Given the description of an element on the screen output the (x, y) to click on. 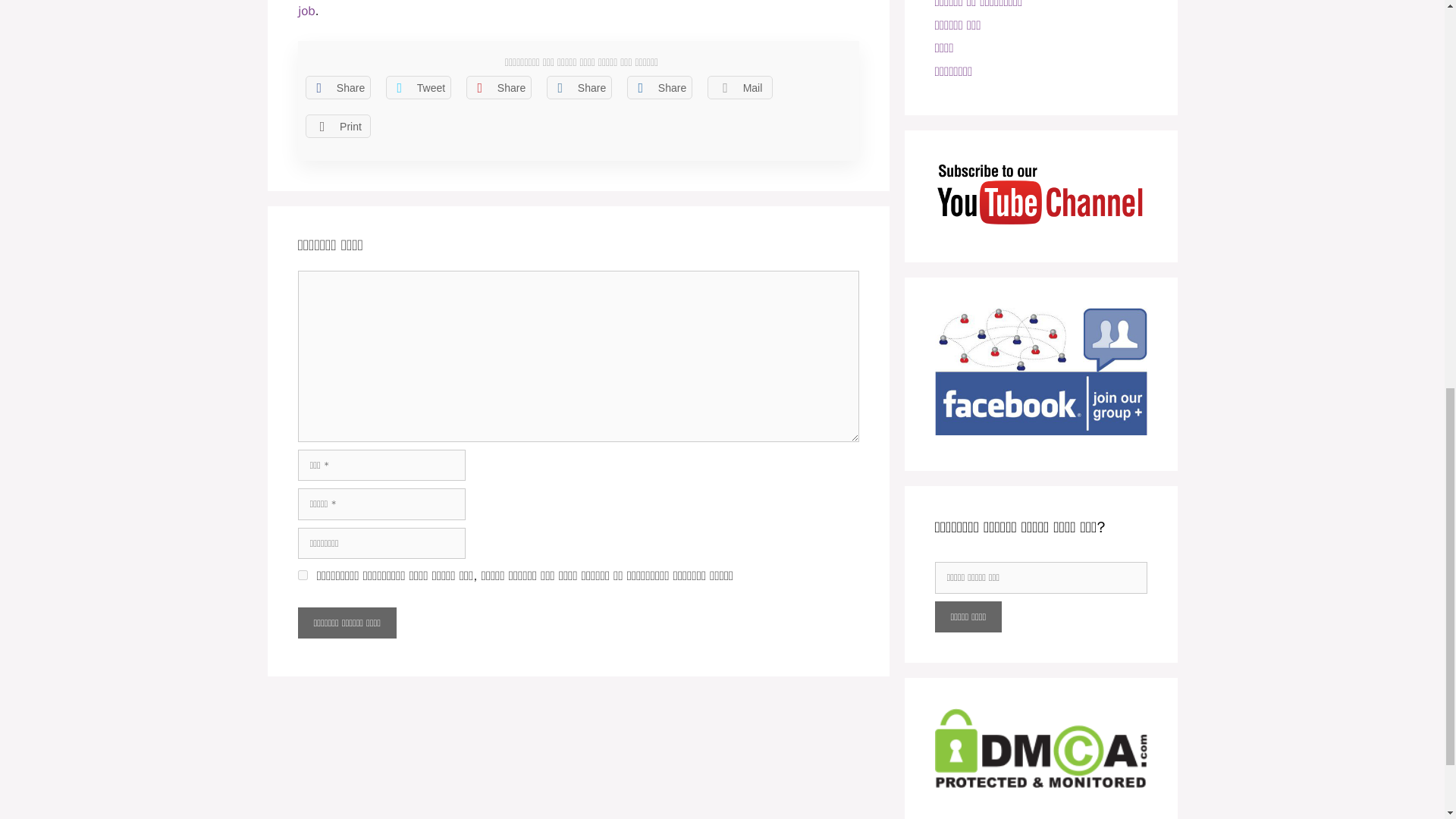
bank job (572, 9)
Share (336, 87)
Share (578, 87)
Tweet (417, 87)
Share on Pinterest (498, 87)
Print (336, 126)
Share on LinkedIn (578, 87)
Print (336, 126)
Share on Facebook (336, 87)
Share on Digg (658, 87)
